Given the description of an element on the screen output the (x, y) to click on. 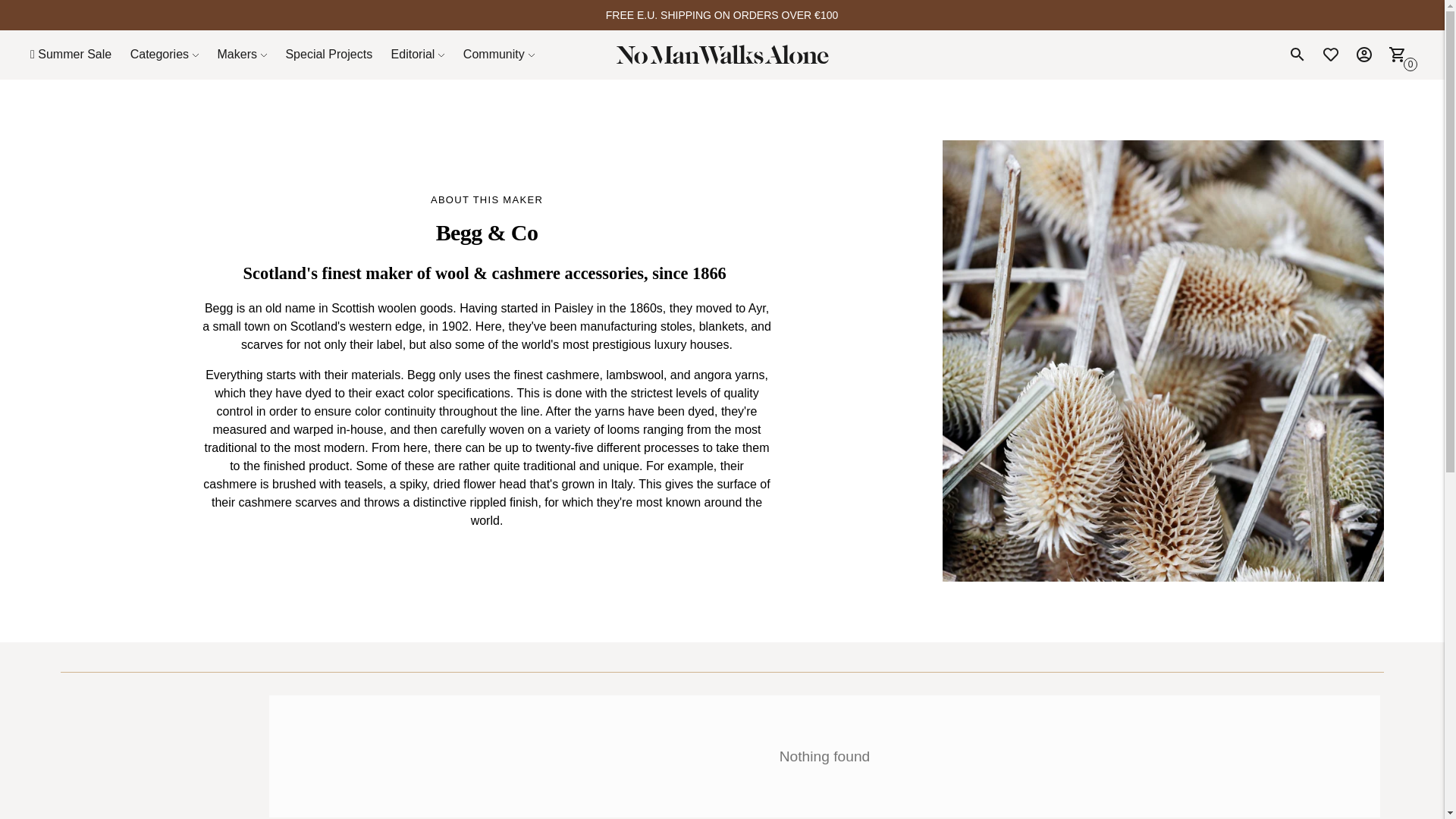
Categories (164, 54)
